Given the description of an element on the screen output the (x, y) to click on. 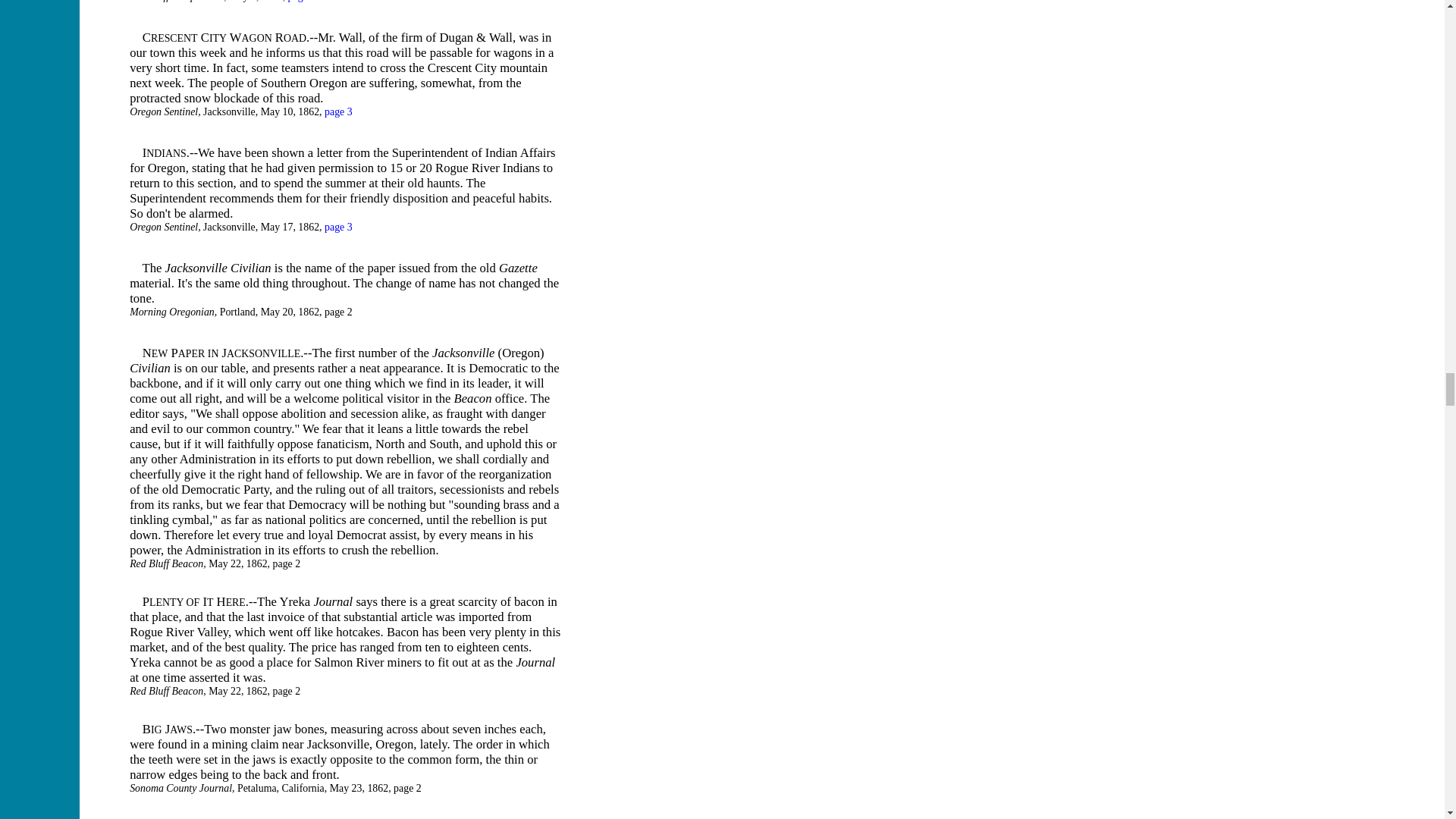
page 2 (301, 1)
page 3 (338, 111)
page 3 (338, 226)
